Given the description of an element on the screen output the (x, y) to click on. 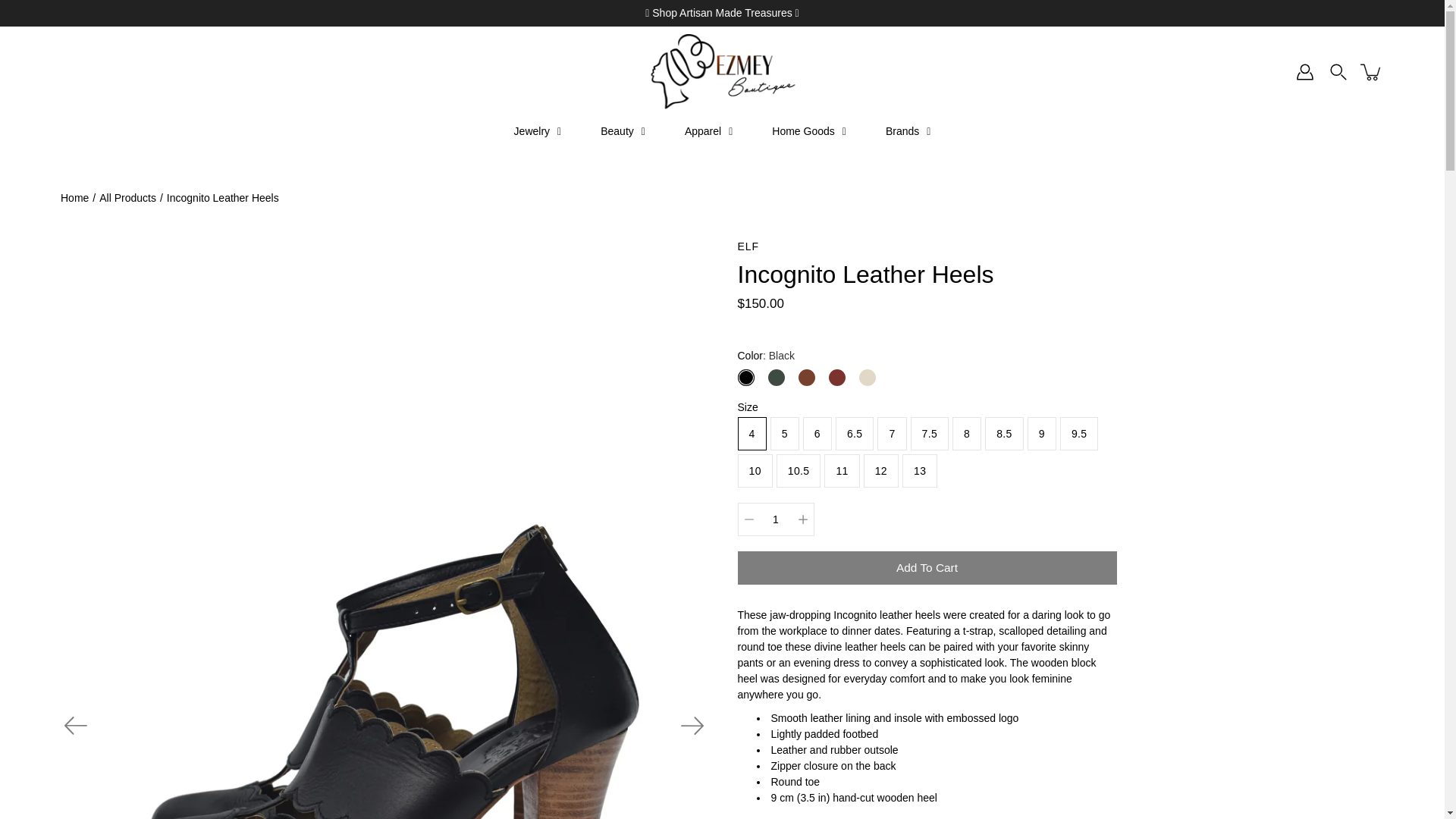
1 (774, 519)
Jewelry (537, 131)
Jewelry (537, 131)
